Given the description of an element on the screen output the (x, y) to click on. 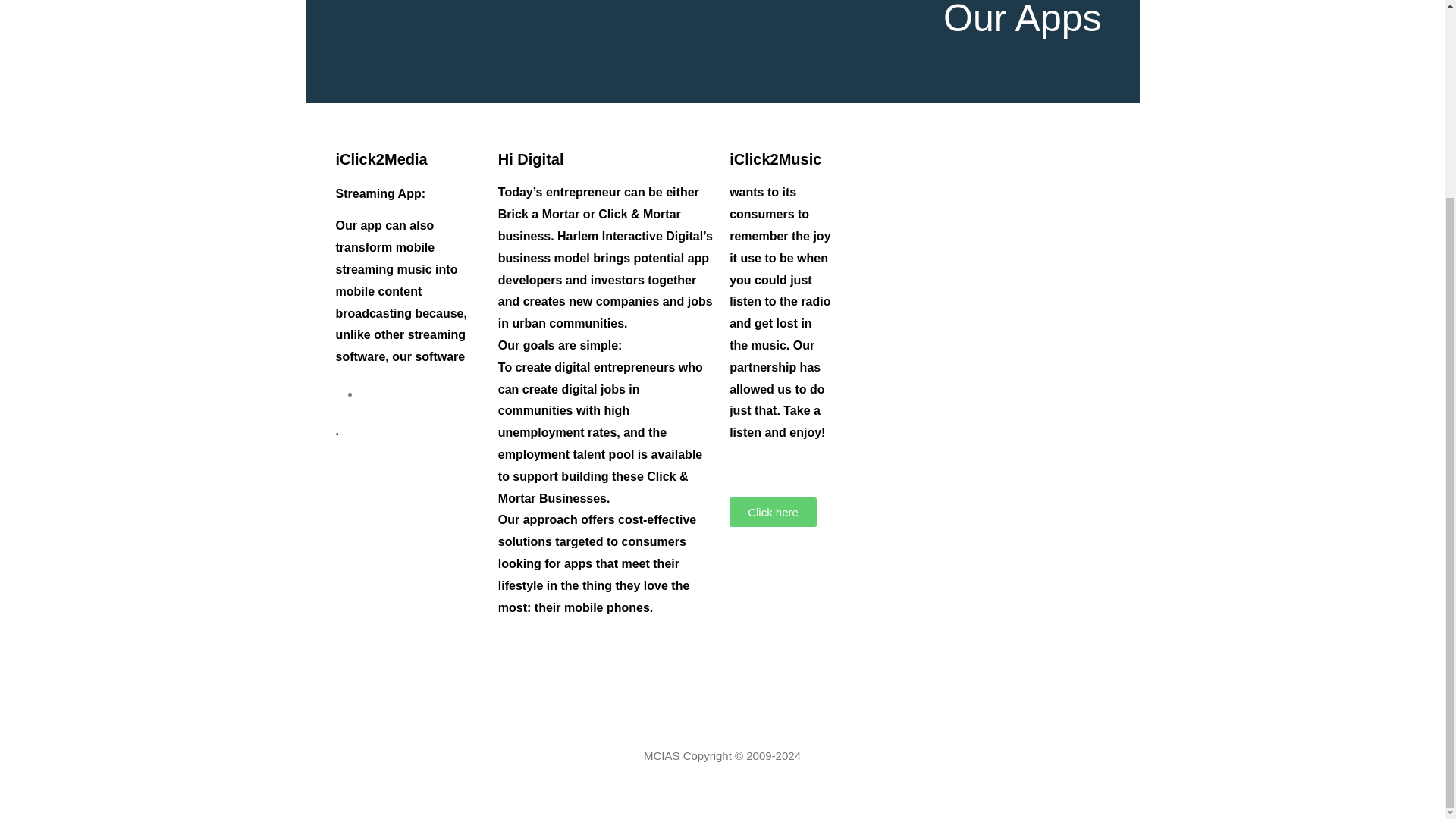
Click here (772, 512)
